Given the description of an element on the screen output the (x, y) to click on. 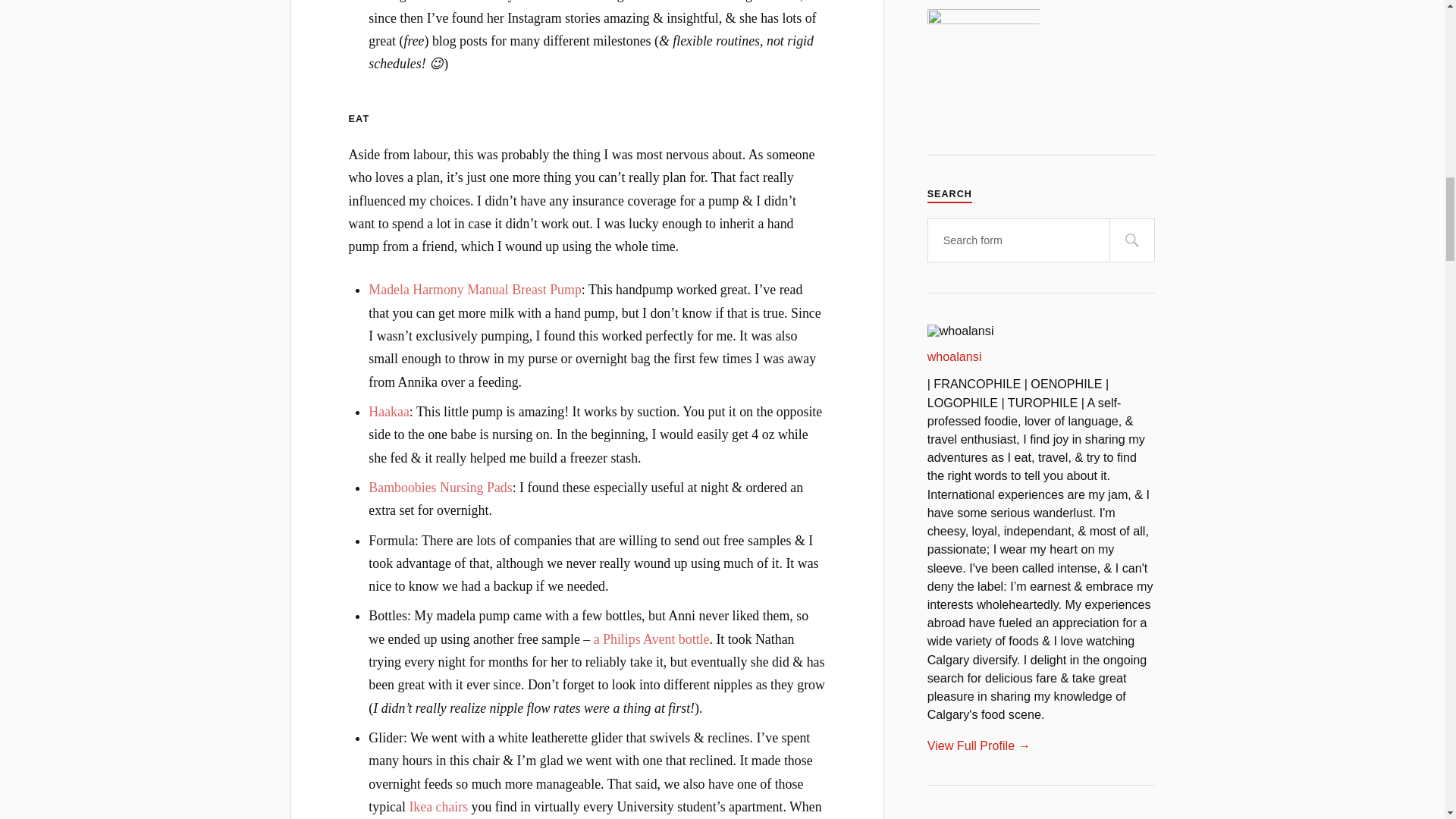
Madela Harmony Manual Breast Pump (474, 289)
The Domestic Man (983, 3)
Haakaa (388, 411)
Ikea chairs (438, 806)
a Philips Avent bottle (652, 639)
Bamboobies Nursing Pads (440, 487)
laurenishome (983, 65)
